Given the description of an element on the screen output the (x, y) to click on. 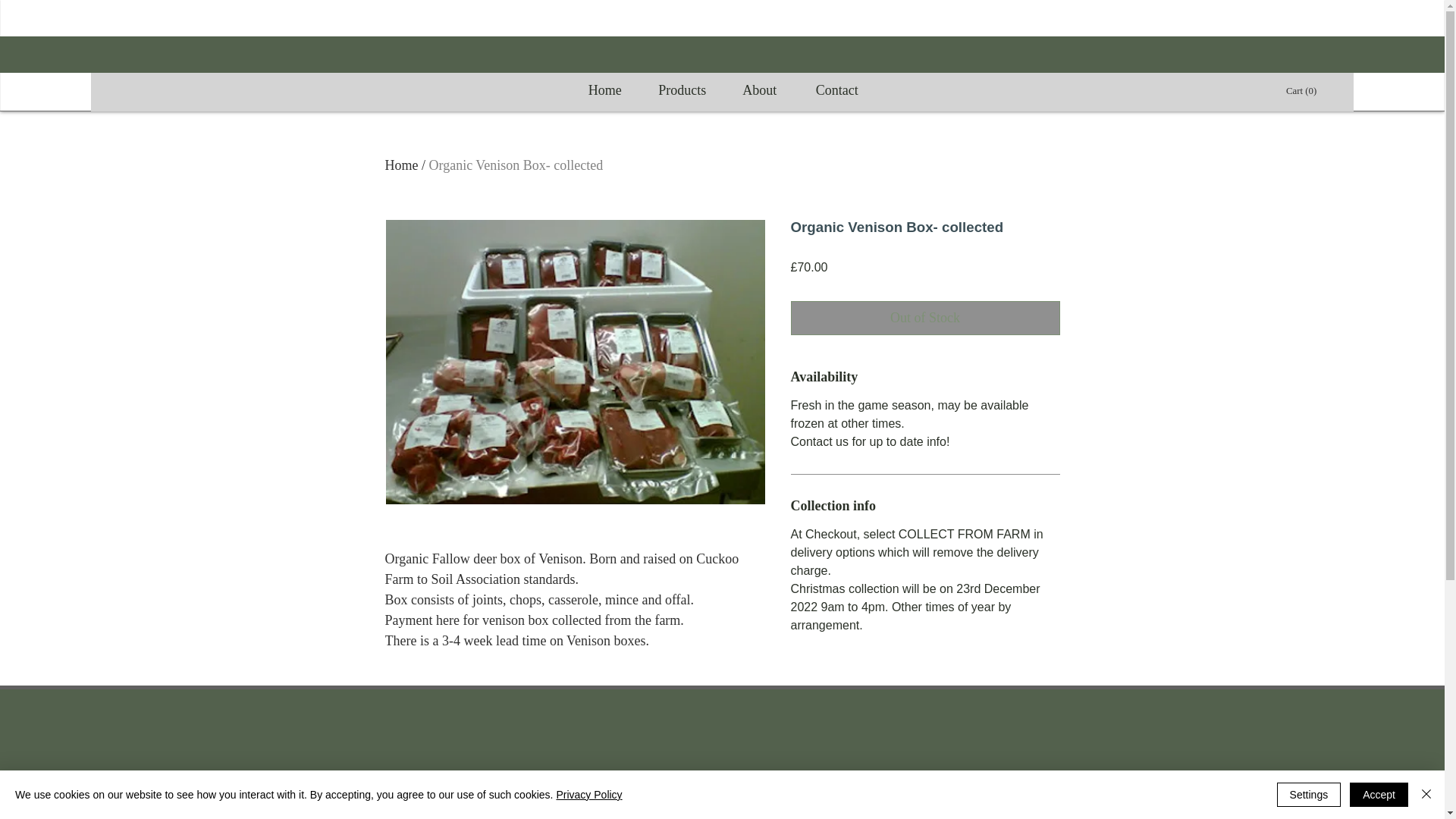
Home (402, 165)
Organic Venison Box- collected (516, 165)
Out of Stock (924, 317)
Contact (836, 90)
Home (604, 90)
Settings (1308, 794)
About (758, 90)
Privacy Policy (588, 794)
Accept (1378, 794)
